Given the description of an element on the screen output the (x, y) to click on. 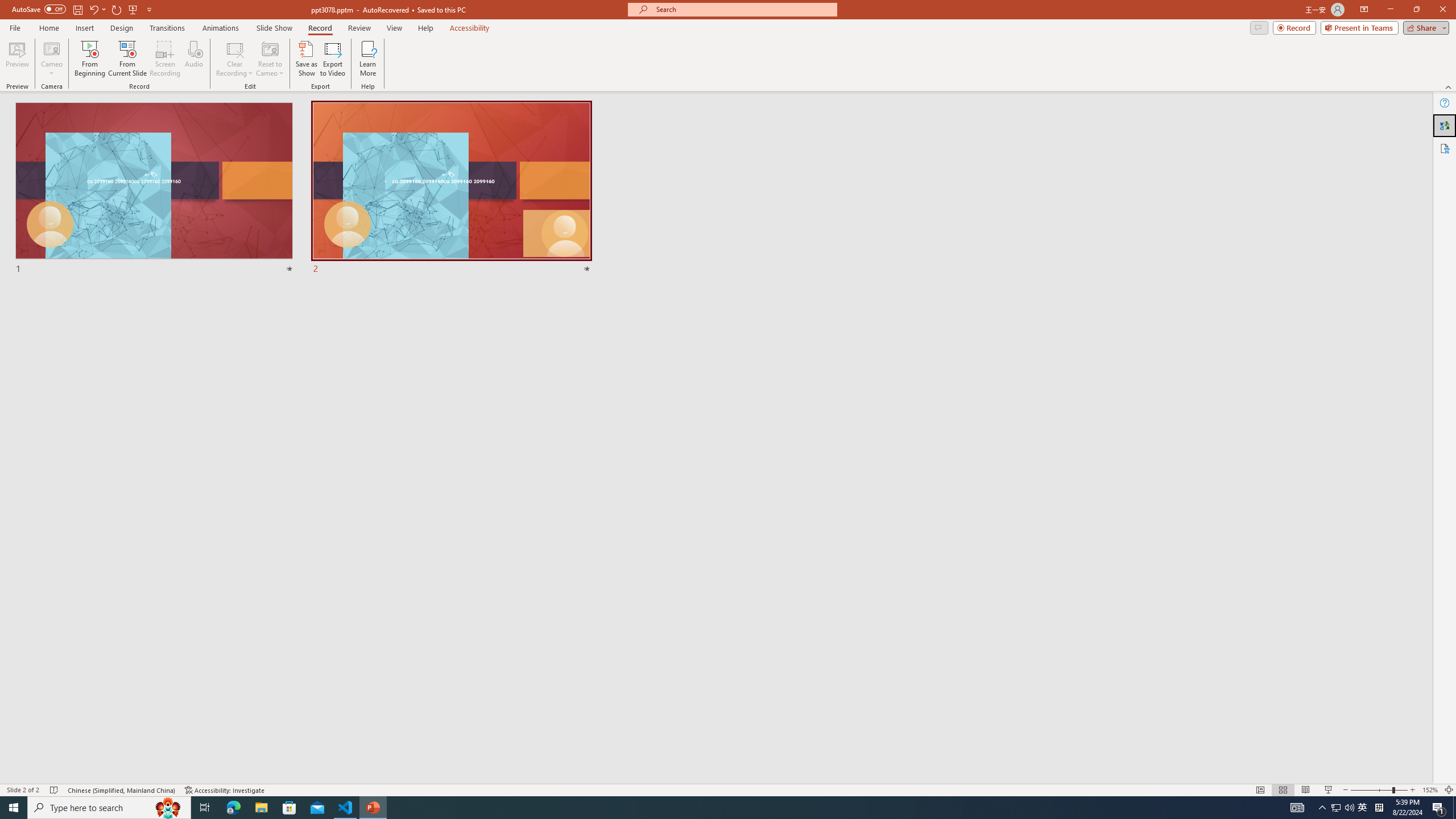
Zoom 152% (1430, 790)
